Given the description of an element on the screen output the (x, y) to click on. 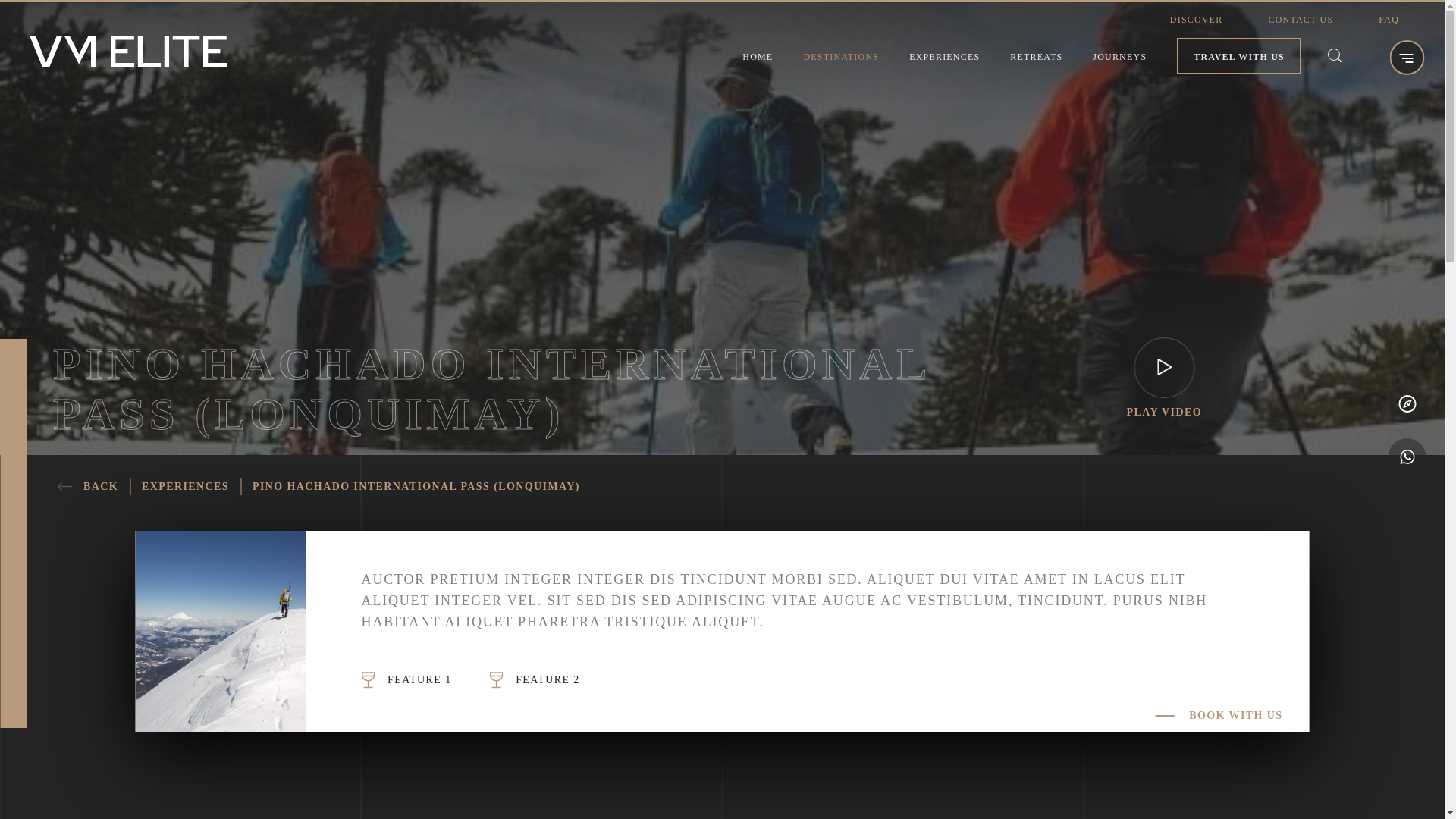
DISCOVER (1196, 19)
EXPERIENCES (943, 56)
JOURNEYS (1120, 56)
DESTINATIONS (841, 56)
FAQ (1388, 19)
HOME (757, 56)
TRAVEL WITH US (1238, 56)
RETREATS (1036, 56)
CONTACT US (1300, 19)
